Given the description of an element on the screen output the (x, y) to click on. 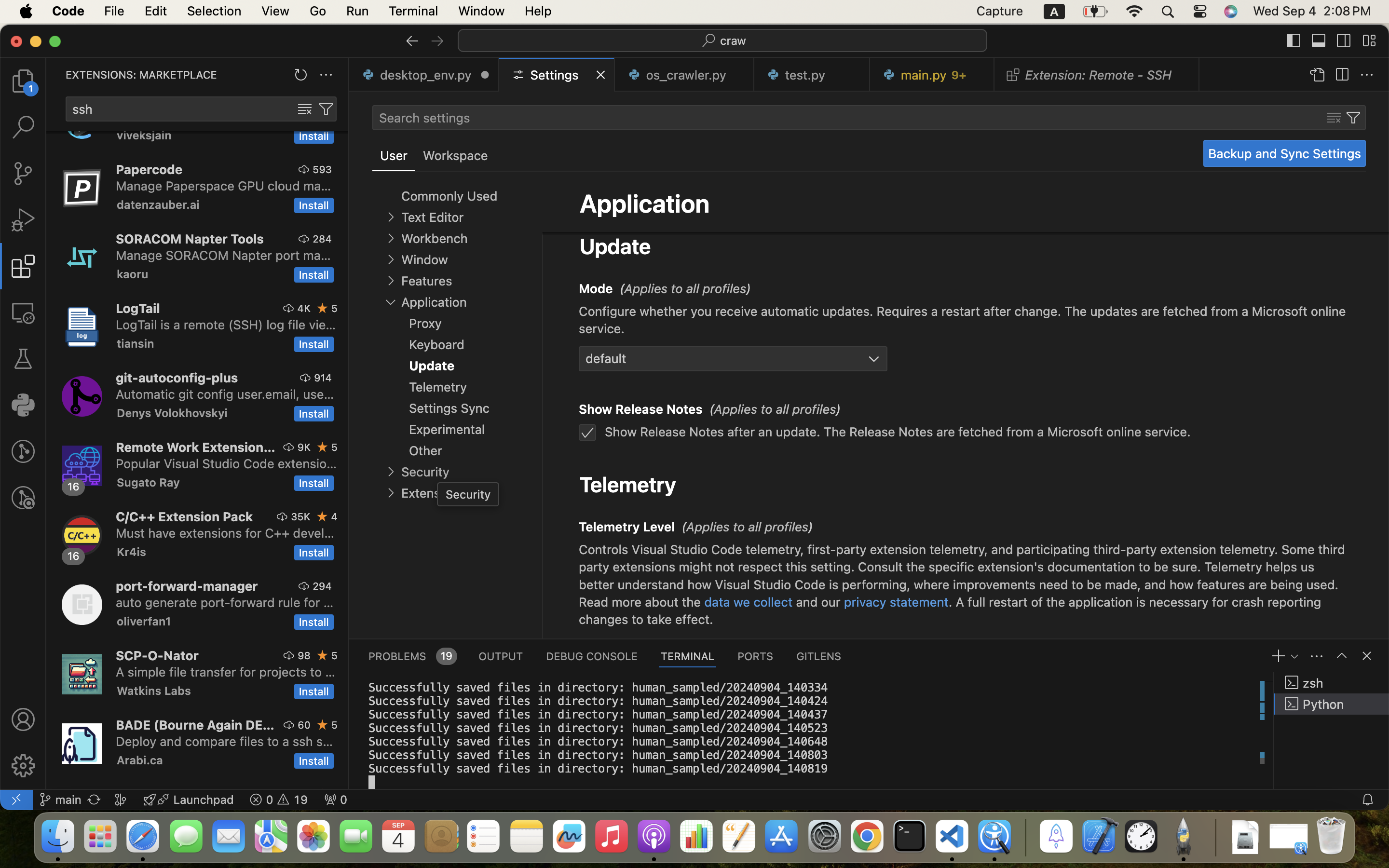
Denys Volokhovskyi Element type: AXStaticText (171, 412)
Telemetry Element type: AXStaticText (627, 483)
0 desktop_env.py   Element type: AXRadioButton (424, 74)
Extensions Element type: AXStaticText (432, 493)
Python  Element type: AXGroup (1331, 703)
